Given the description of an element on the screen output the (x, y) to click on. 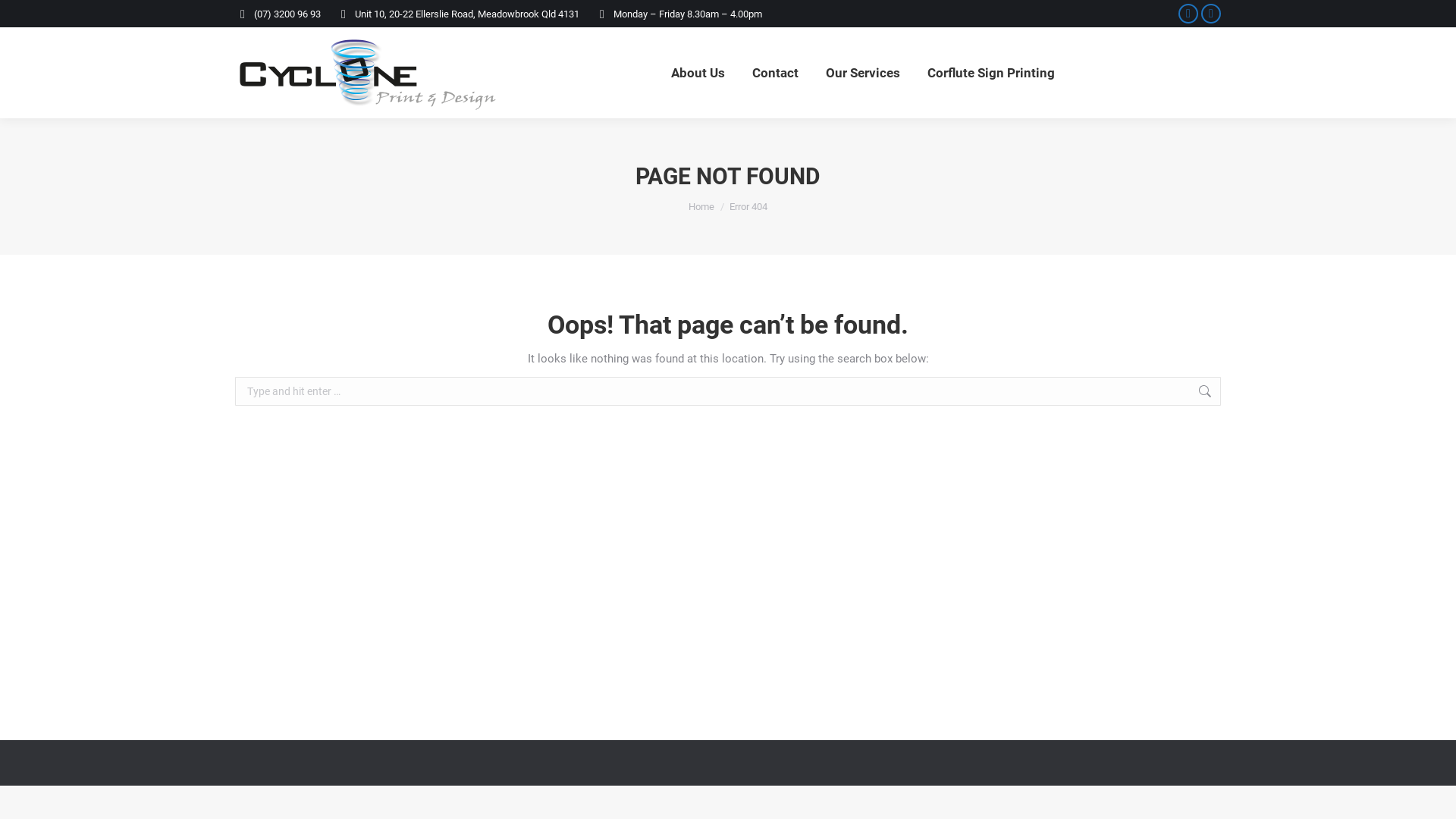
Our Services Element type: text (862, 72)
Go! Element type: text (1243, 393)
Corflute Sign Printing Element type: text (990, 72)
Home Element type: text (701, 206)
Contact Element type: text (775, 72)
Facebook page opens in new window Element type: text (1188, 13)
About Us Element type: text (697, 72)
Instagram page opens in new window Element type: text (1210, 13)
